Given the description of an element on the screen output the (x, y) to click on. 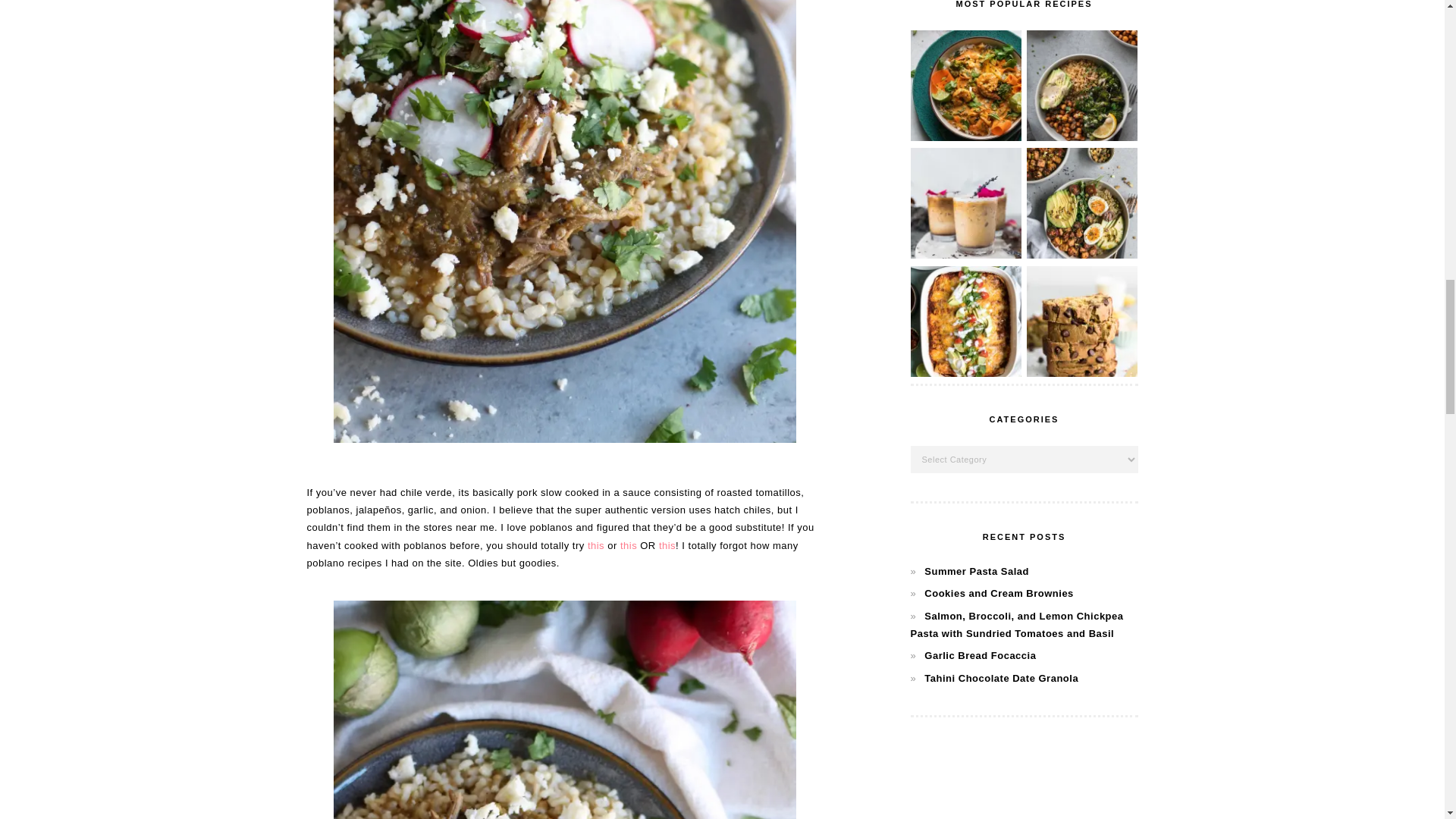
Quinoa Bowls with Sesame Tofu, Avocado, and Pistachios (1081, 255)
Quinoa Flour Chocolate Chip Banana Bread (1081, 373)
The Best Beef Enchiladas (965, 373)
Thai Red Curry with Shrimp and Vegetables (965, 137)
this (628, 545)
this (667, 545)
this (596, 545)
Rose Lavender Honey Iced Lattes (965, 255)
